Given the description of an element on the screen output the (x, y) to click on. 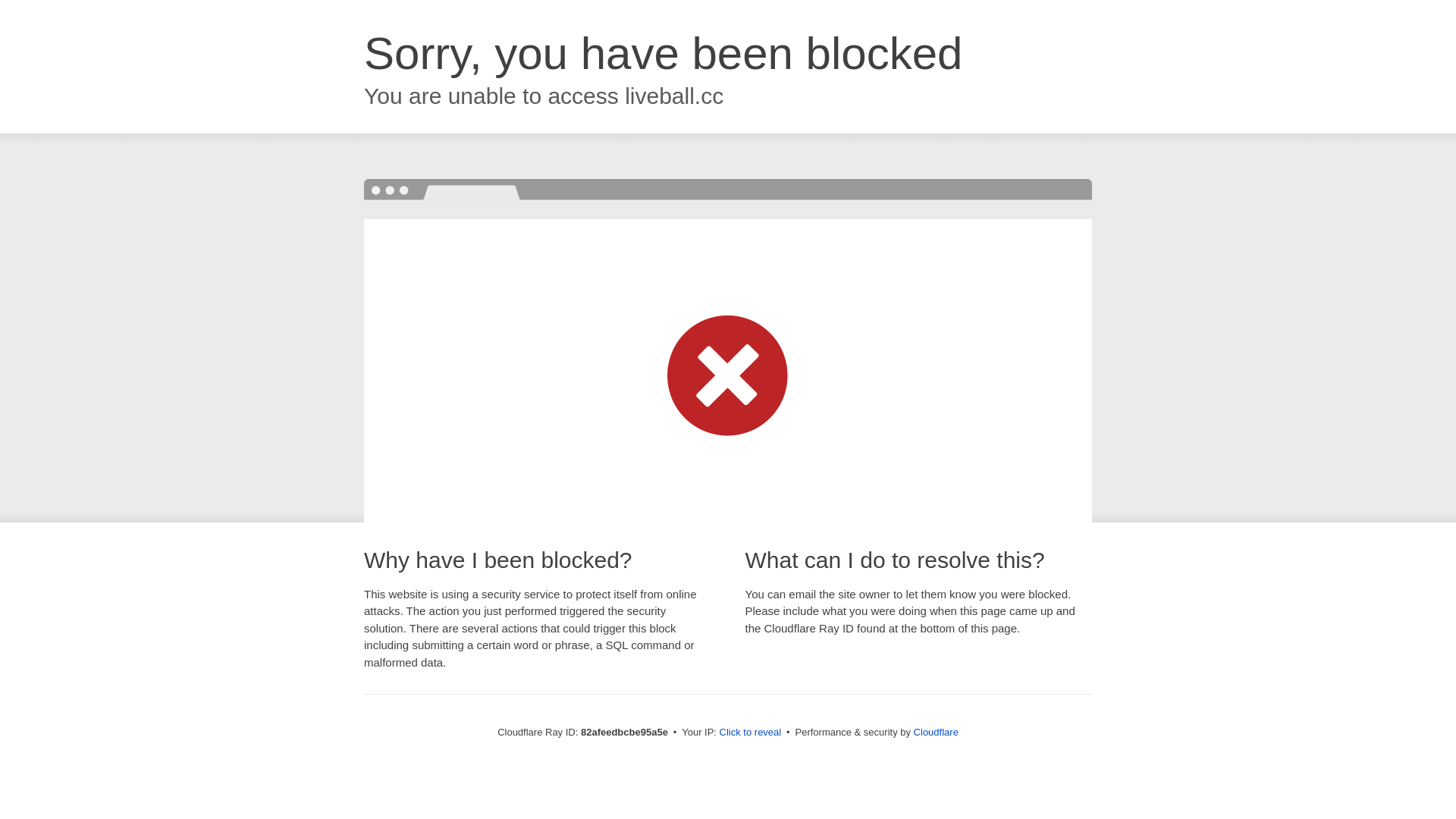
Click to reveal Element type: text (750, 732)
Cloudflare Element type: text (935, 731)
